Given the description of an element on the screen output the (x, y) to click on. 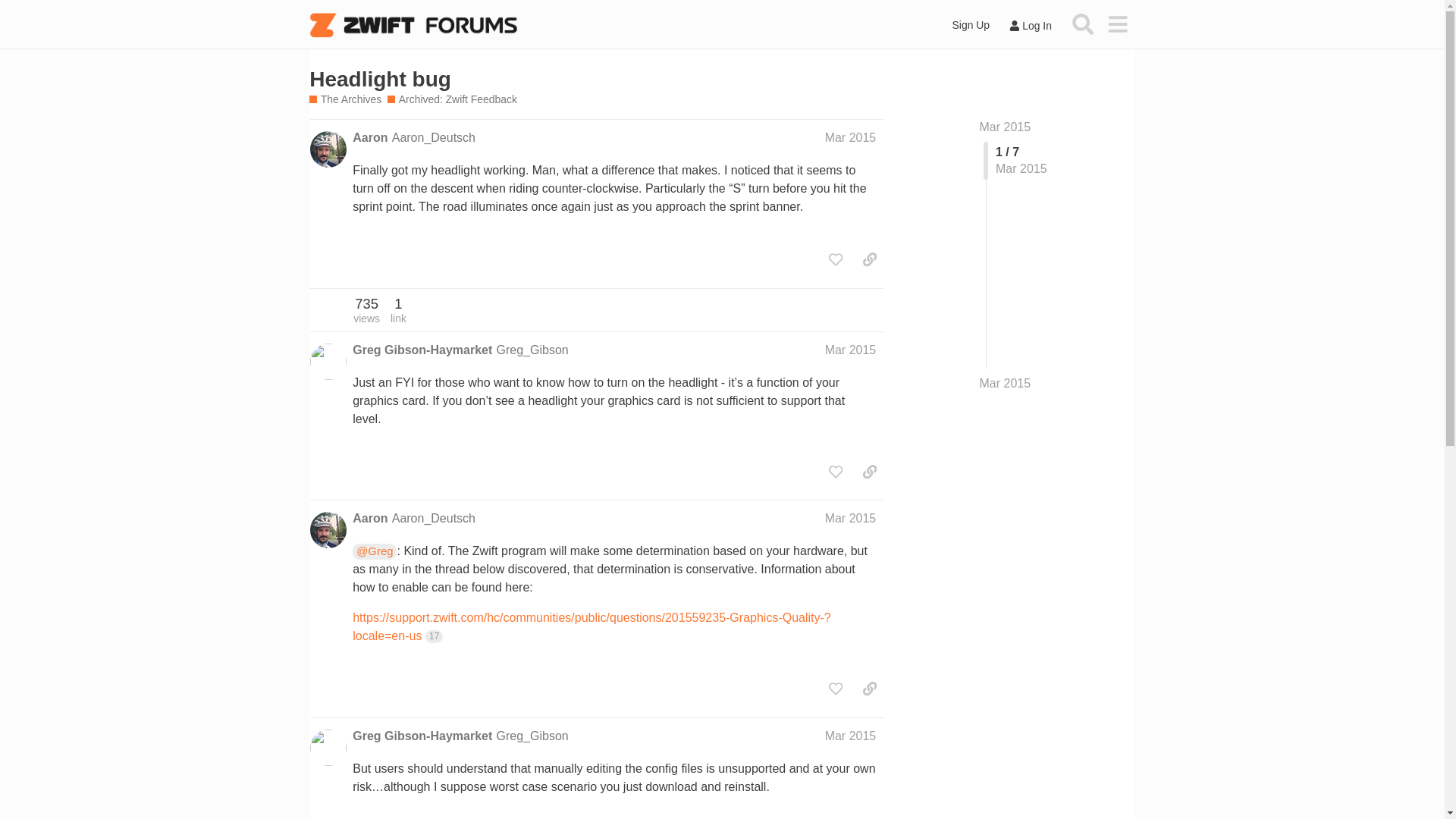
copy a link to this post to clipboard (869, 258)
Mar 2015 (850, 137)
Mar 2015 (850, 517)
Headlight bug (379, 78)
menu (1117, 23)
Archived: Zwift Feedback (451, 99)
Post date (850, 517)
Aaron (369, 518)
Mar 2015 (850, 349)
Mar 2015 (850, 735)
